Given the description of an element on the screen output the (x, y) to click on. 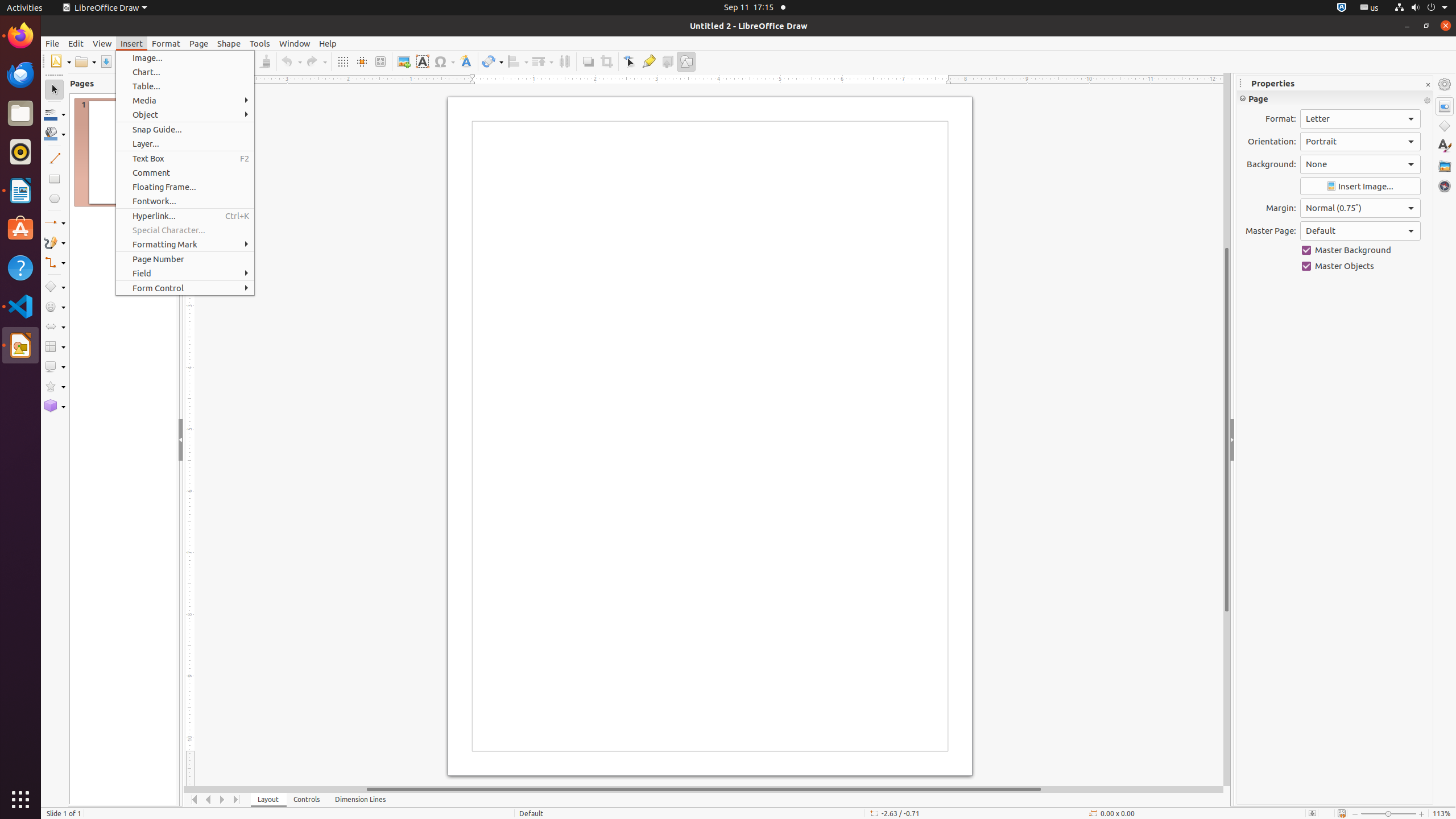
Layout Element type: page-tab (268, 799)
Text Box Element type: push-button (421, 61)
Flowchart Shapes Element type: push-button (54, 346)
Symbol Element type: push-button (443, 61)
Insert Element type: menu (131, 43)
